Given the description of an element on the screen output the (x, y) to click on. 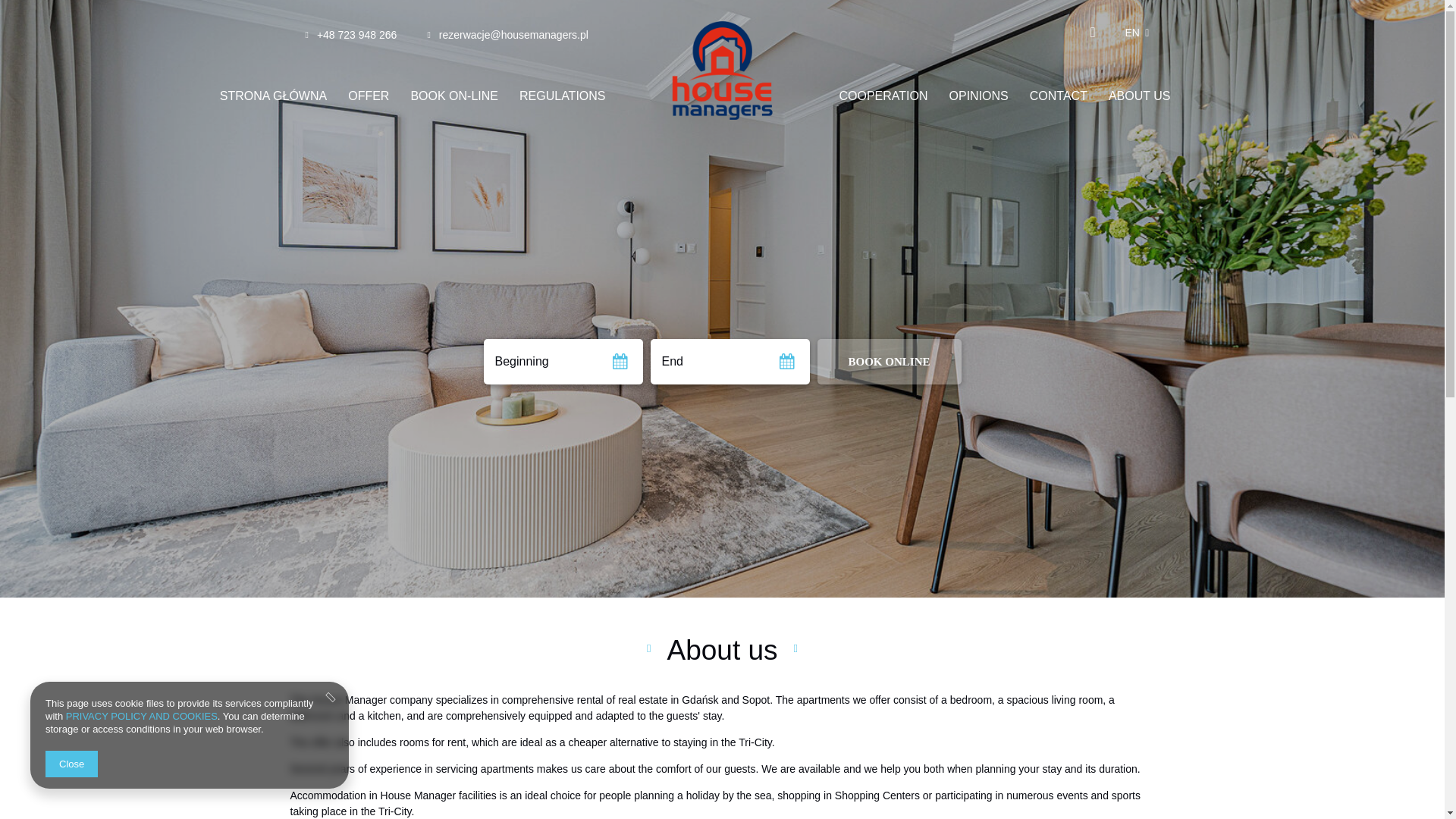
ABOUT US (1138, 95)
PRIVACY POLICY AND COOKIES (140, 715)
facebook (1093, 32)
OPINIONS (979, 95)
OFFER (367, 95)
CONTACT (1058, 95)
REGULATIONS (561, 95)
BOOK ONLINE (888, 361)
COOPERATION (882, 95)
